Given the description of an element on the screen output the (x, y) to click on. 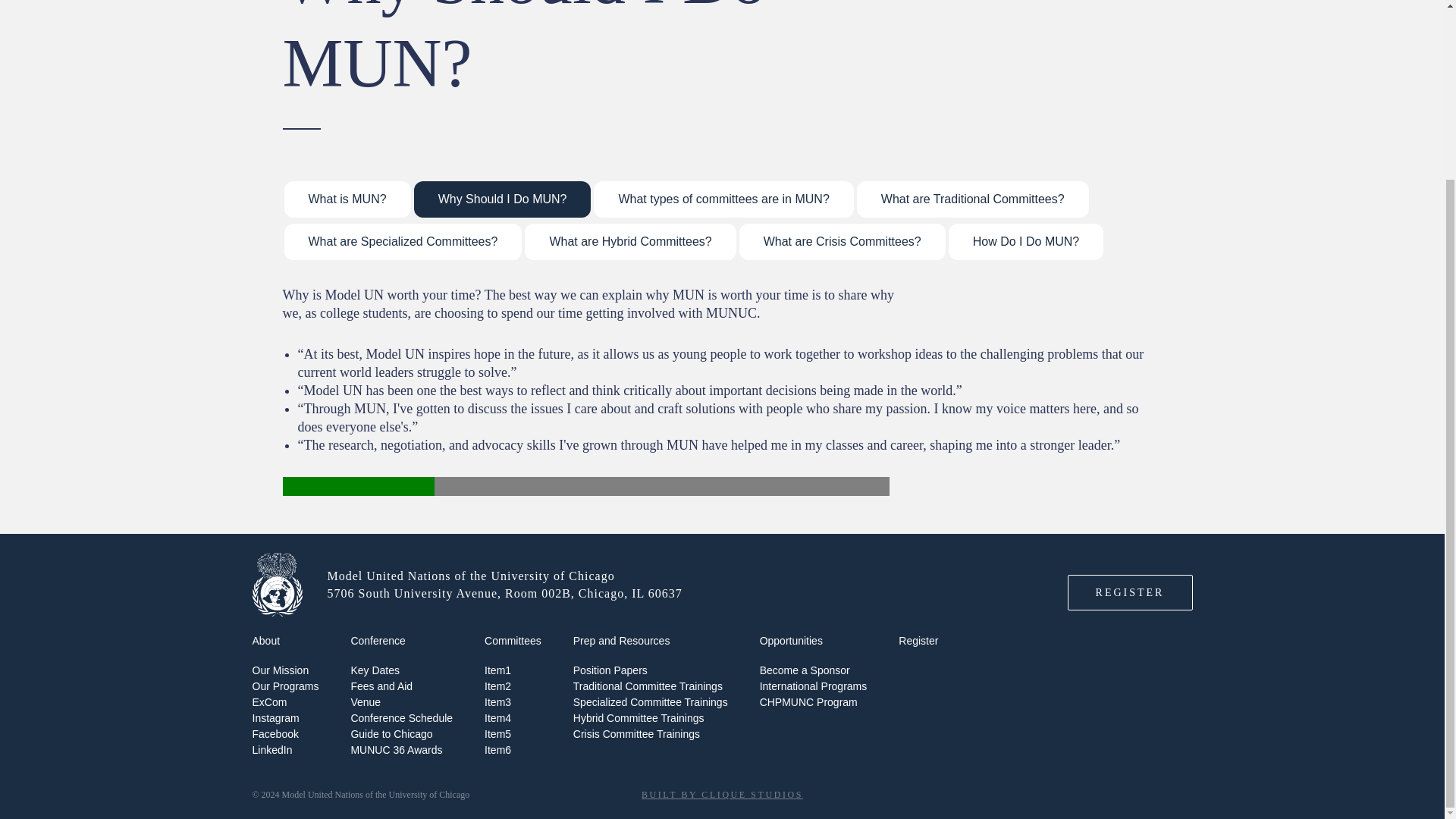
What is MUN? (346, 198)
What is MUN? (347, 200)
Why Should I Do MUN? (502, 200)
